Given the description of an element on the screen output the (x, y) to click on. 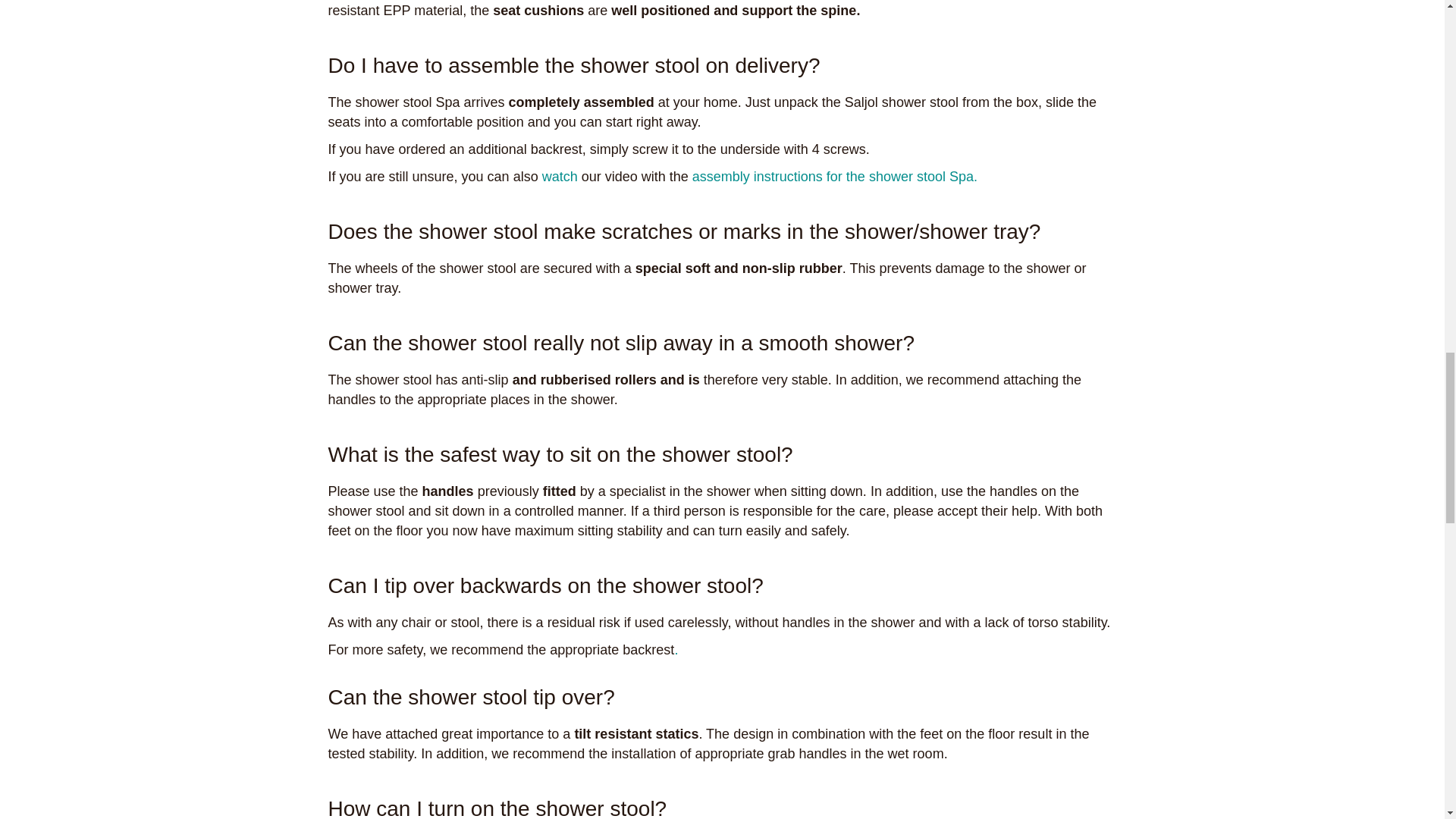
Aufbauanleitung Duschhocker (834, 176)
watch (559, 176)
assembly instructions for the shower stool Spa. (834, 176)
Aufbauanleitung Duschhocker (559, 176)
